Given the description of an element on the screen output the (x, y) to click on. 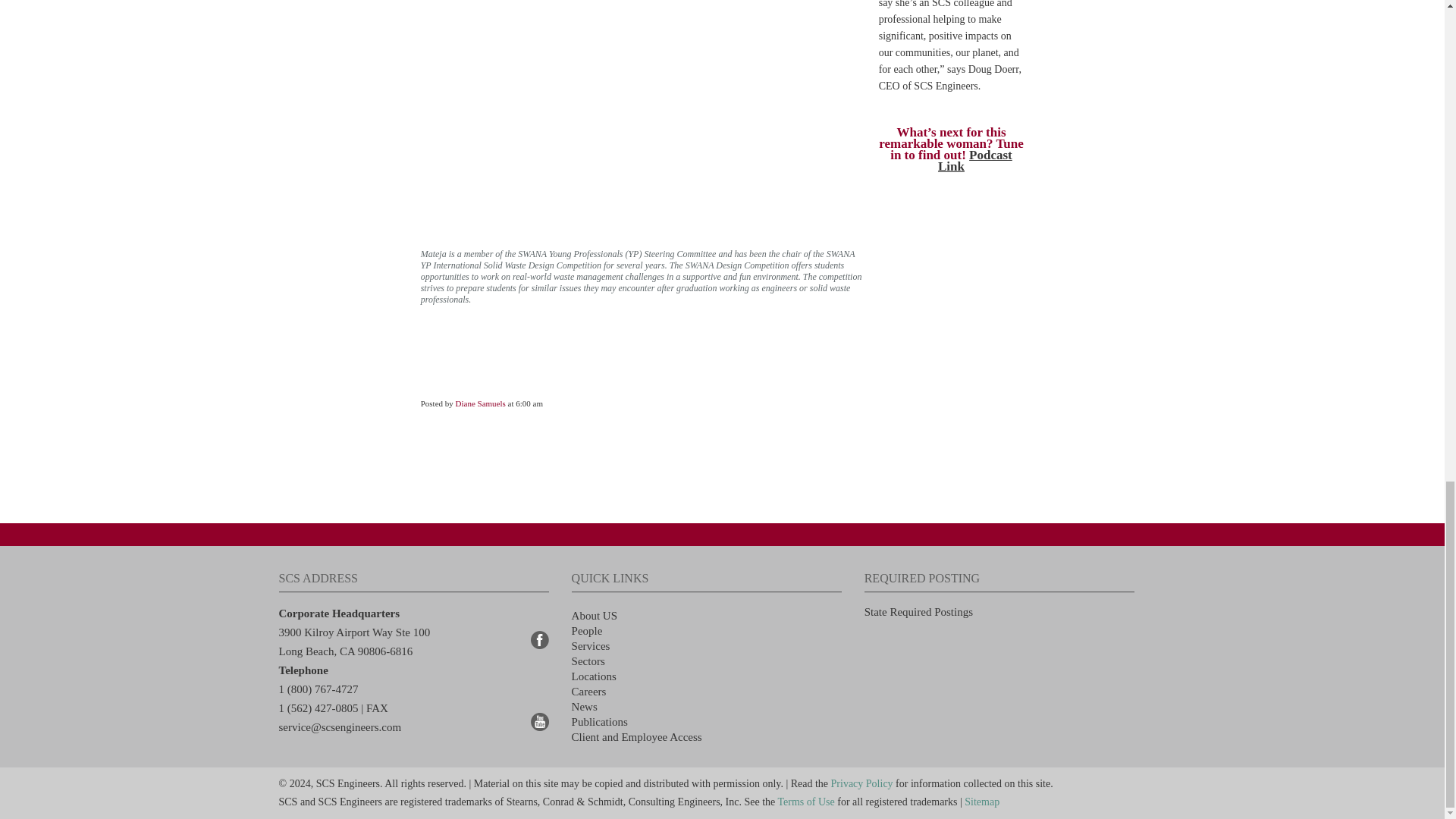
Risk Management Plans and Process Safety Management (591, 645)
